Given the description of an element on the screen output the (x, y) to click on. 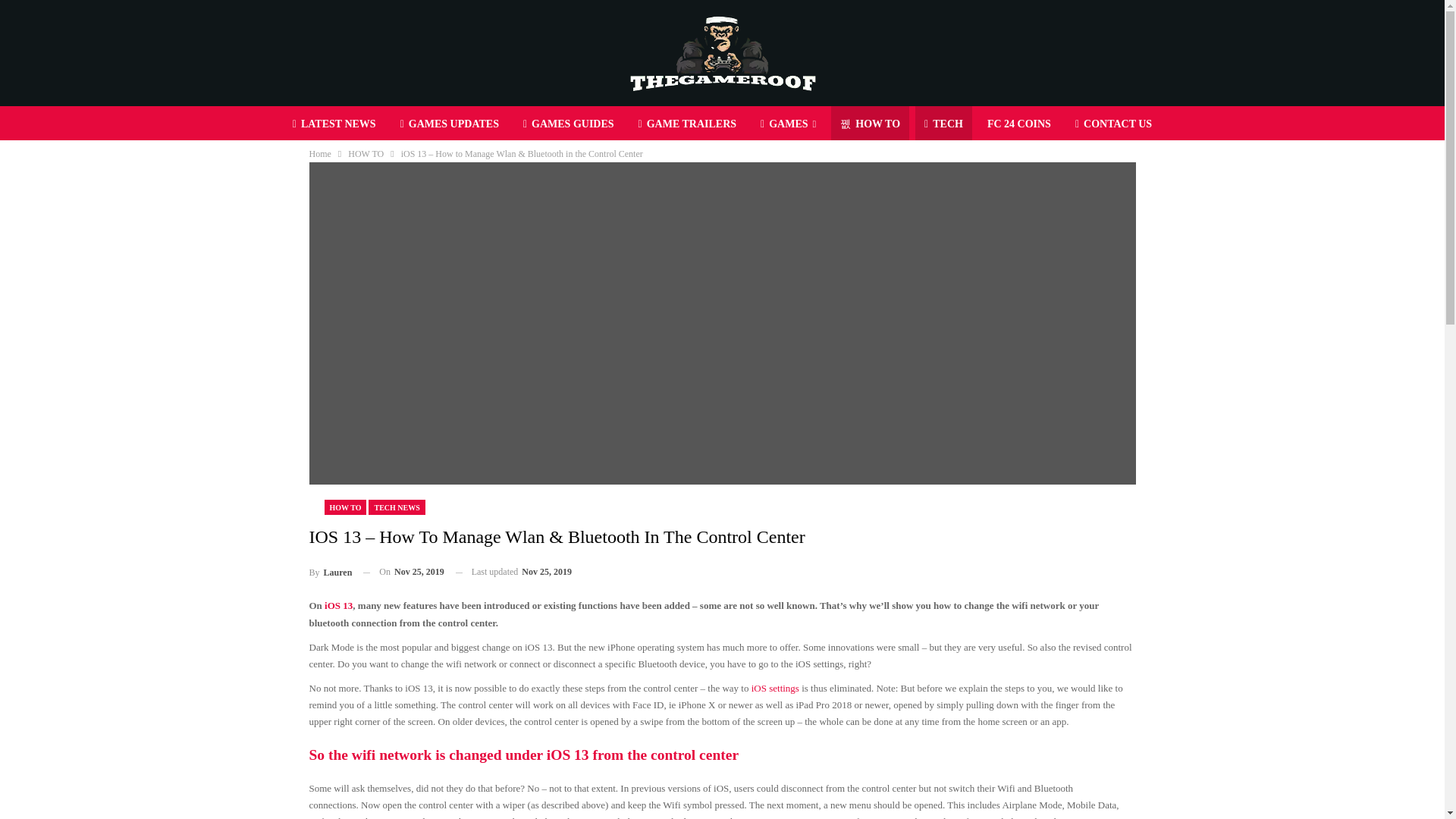
Browse Author Articles (330, 571)
CONTACT US (1112, 124)
iOS 13 (336, 604)
LATEST NEWS (334, 124)
iOS settings (772, 687)
HOW TO (365, 153)
GAMES UPDATES (449, 124)
By Lauren (330, 571)
TECH NEWS (396, 507)
TECH (943, 124)
Home (319, 153)
HOW TO (345, 507)
GAMES GUIDES (568, 124)
HOW TO (869, 124)
